Given the description of an element on the screen output the (x, y) to click on. 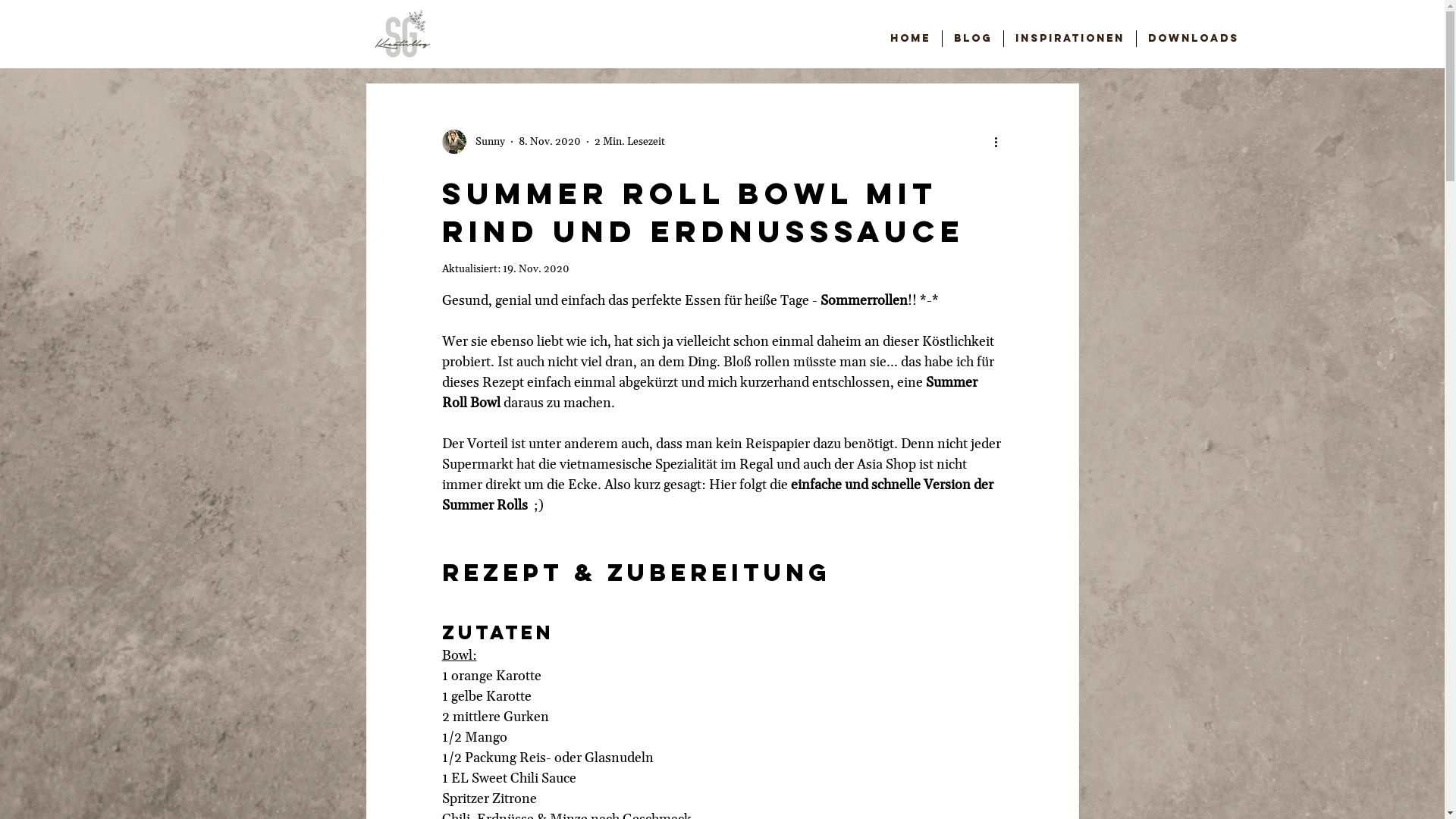
Blog Element type: text (972, 38)
Inspirationen Element type: text (1069, 38)
Home Element type: text (909, 38)
Sunny Element type: text (472, 141)
Downloads Element type: text (1193, 38)
Pin to Pinterest Element type: hover (669, 139)
Logo Selbstgemacht 150dpi - Dunkel 1c Em Element type: hover (402, 33)
